Given the description of an element on the screen output the (x, y) to click on. 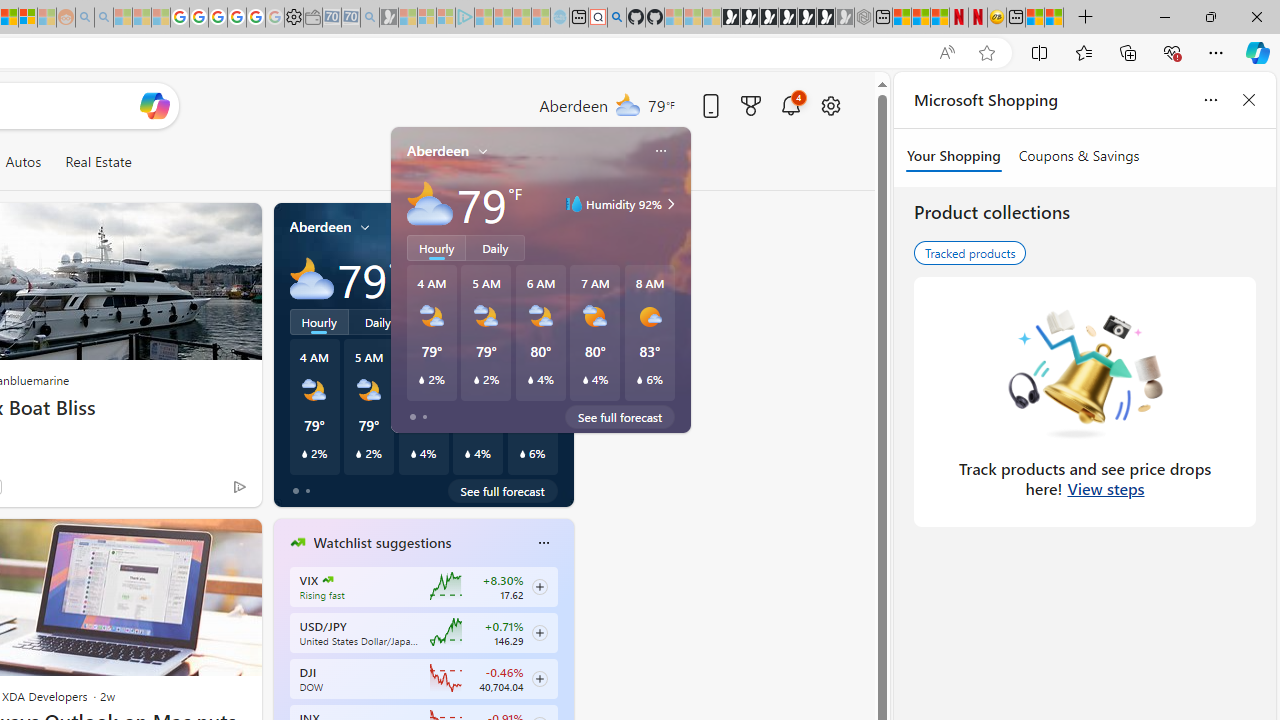
Mostly cloudy (311, 278)
